Given the description of an element on the screen output the (x, y) to click on. 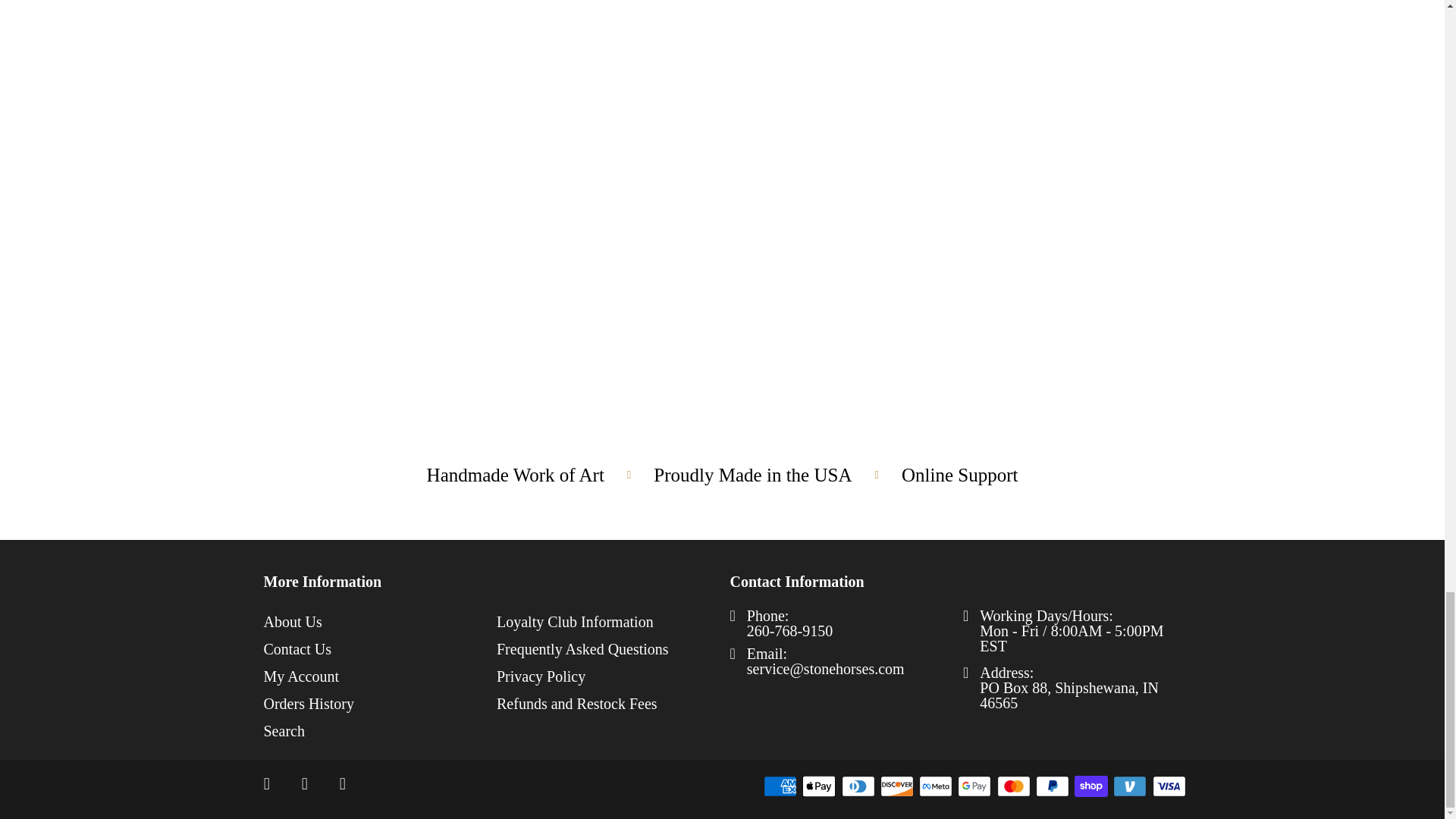
Visa (1171, 785)
Venmo (1131, 785)
Stone Horses on Instagram (304, 783)
Shop Pay (1092, 785)
Diners Club (859, 785)
PayPal (1053, 785)
Discover (898, 785)
Mastercard (1013, 785)
Meta Pay (936, 785)
Stone Horses on Facebook (267, 783)
